Given the description of an element on the screen output the (x, y) to click on. 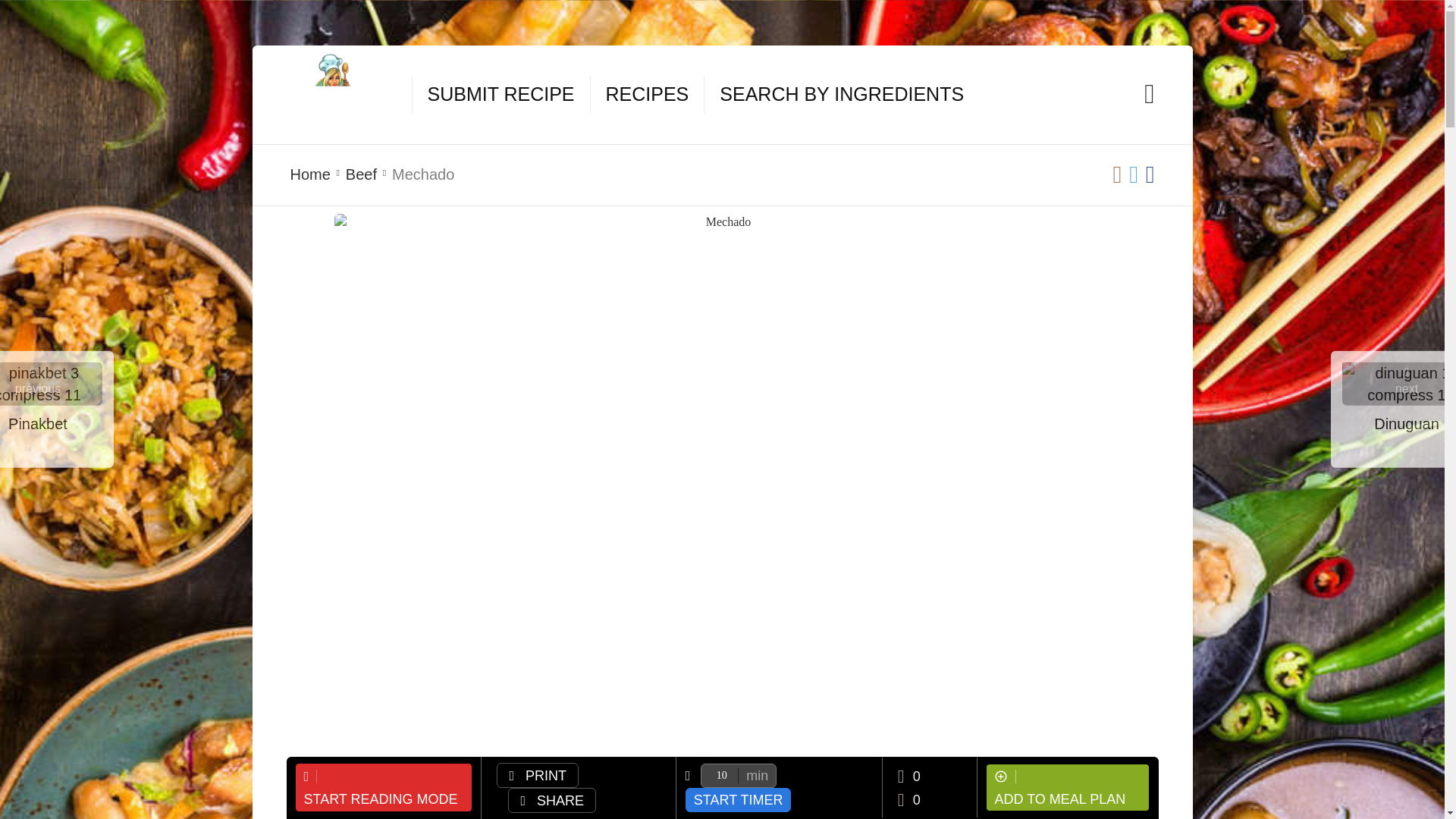
SUBMIT RECIPE (501, 94)
SHARE (551, 800)
View all posts in Beef (361, 174)
Home (309, 174)
0 (909, 799)
ADD TO MEAL PLAN (1067, 787)
SEARCH BY INGREDIENTS (841, 94)
RECIPES (646, 94)
pinakbet 3 compress 11 Pinakbet (50, 383)
START READING MODE (383, 787)
10 (738, 775)
Beef (361, 174)
0 (920, 775)
PRINT (537, 774)
START TIMER (738, 799)
